Given the description of an element on the screen output the (x, y) to click on. 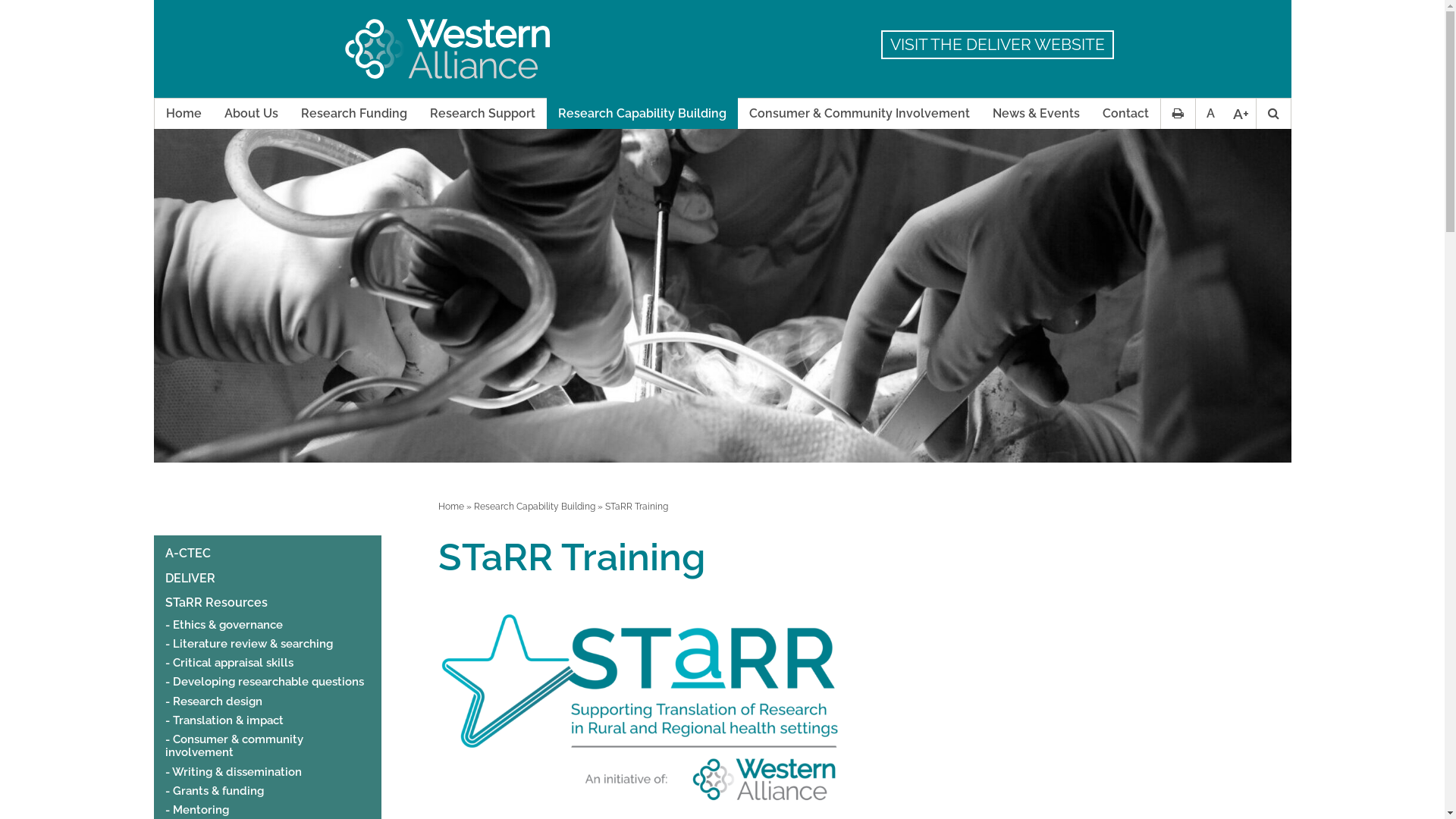
STaRR Resources Element type: text (216, 602)
Contact Element type: text (1124, 113)
News & Events Element type: text (1036, 113)
Ethics & governance Element type: text (223, 625)
Literature review & searching Element type: text (248, 644)
Home Element type: text (451, 506)
DELIVER Element type: text (190, 578)
Mentoring Element type: text (197, 810)
VISIT THE DELIVER WEBSITE Element type: text (997, 44)
Research Capability Building Element type: text (641, 113)
Translation & impact Element type: text (224, 720)
A+ Element type: text (1240, 113)
Consumer & Community Involvement Element type: text (858, 113)
Critical appraisal skills Element type: text (229, 662)
Research Support Element type: text (482, 113)
About Us Element type: text (250, 113)
Developing researchable questions Element type: text (264, 681)
Home Element type: text (183, 113)
A-CTEC Element type: text (187, 553)
Research design Element type: text (213, 701)
A Element type: text (1210, 113)
Writing & dissemination Element type: text (233, 772)
Research Funding Element type: text (353, 113)
Research Capability Building Element type: text (533, 506)
Consumer & community involvement Element type: text (234, 745)
Grants & funding Element type: text (214, 791)
